Given the description of an element on the screen output the (x, y) to click on. 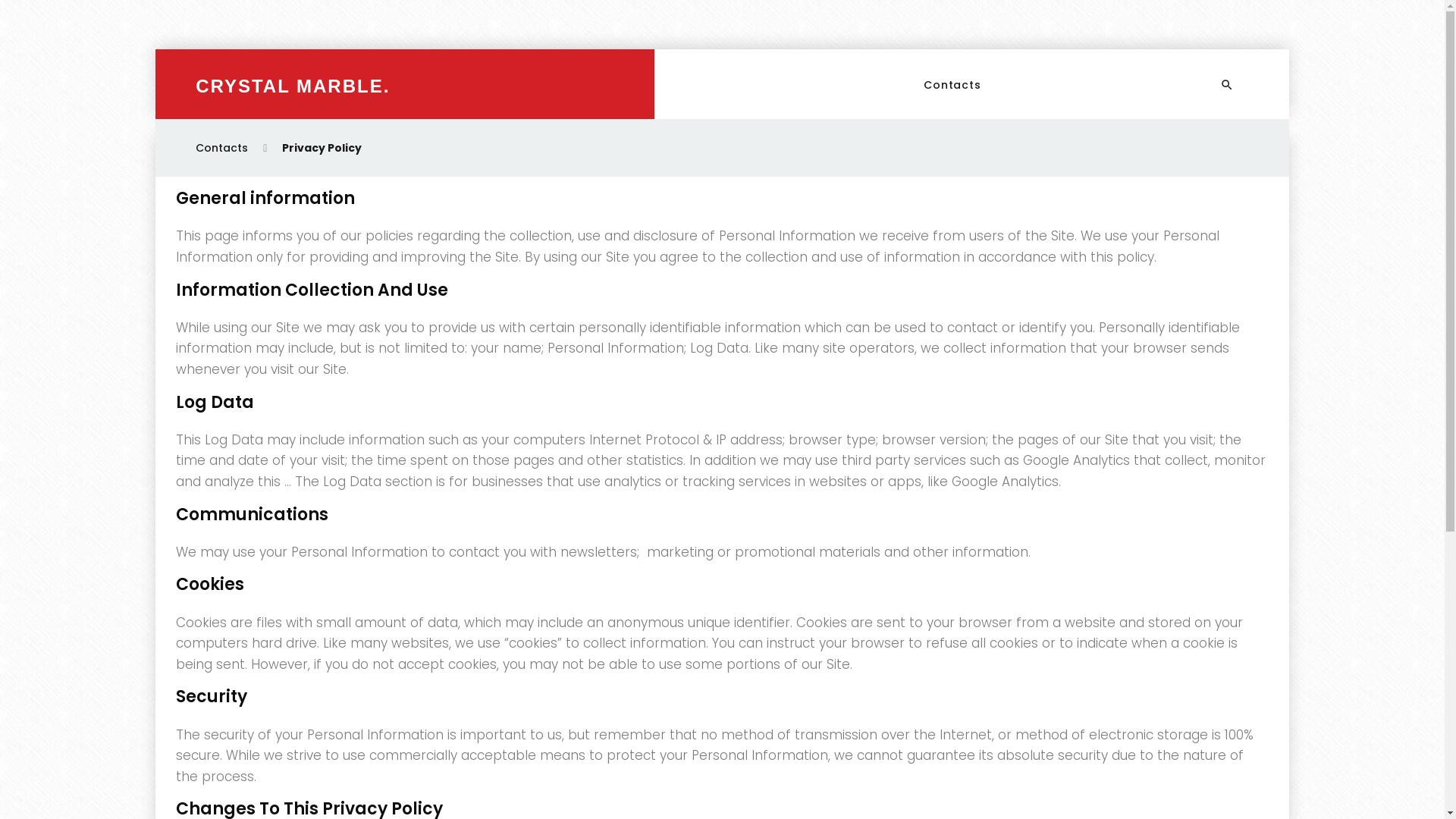
Contacts Element type: text (951, 86)
Contacts Element type: text (221, 147)
CRYSTAL MARBLE. Element type: text (292, 85)
Skip to content Element type: text (6, 49)
